Given the description of an element on the screen output the (x, y) to click on. 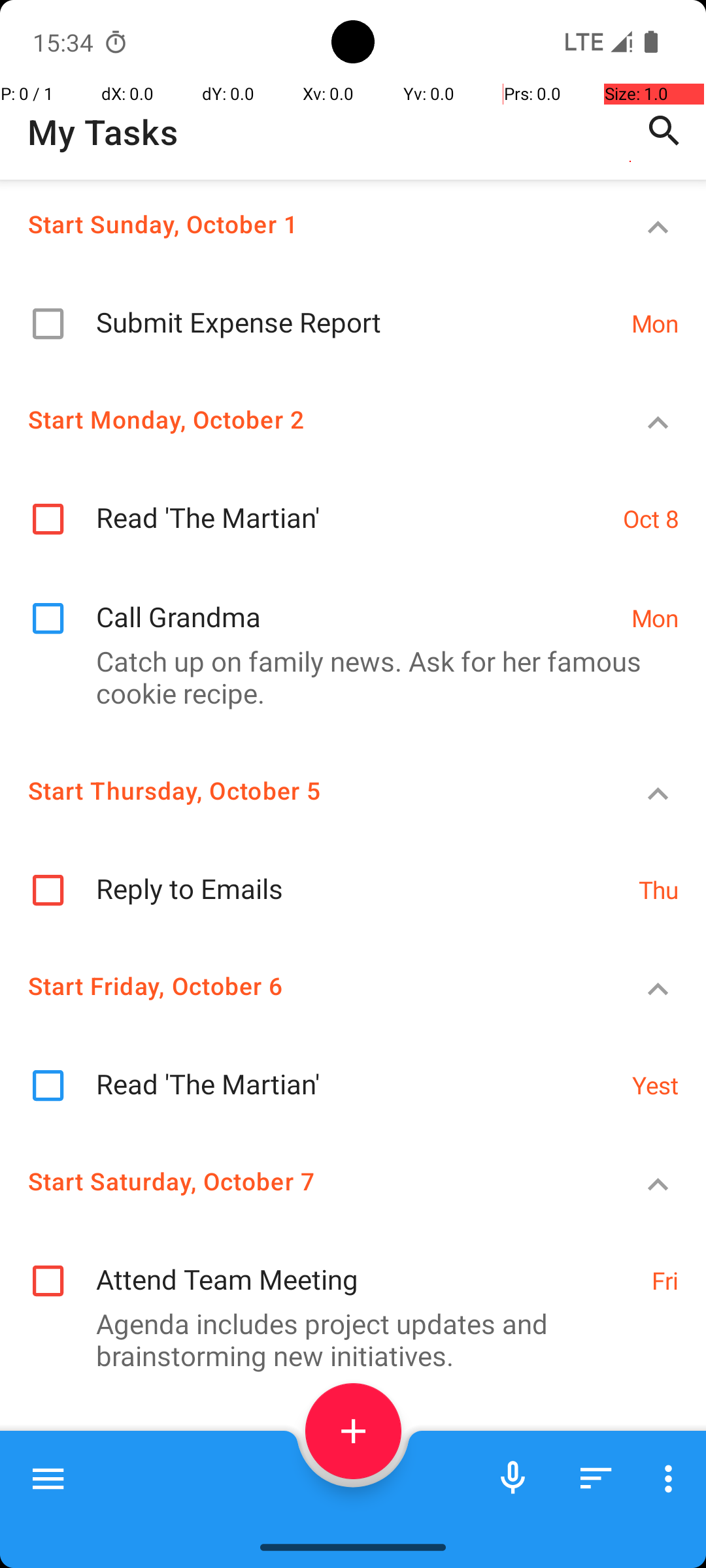
Start Sunday, October 1 Element type: android.widget.TextView (304, 223)
Start Monday, October 2 Element type: android.widget.TextView (304, 419)
Start Thursday, October 5 Element type: android.widget.TextView (304, 790)
Start Friday, October 6 Element type: android.widget.TextView (304, 985)
Start Saturday, October 7 Element type: android.widget.TextView (304, 1180)
Start Sunday, October 8 Element type: android.widget.TextView (304, 1452)
Catch up on family news. Ask for her famous cookie recipe. Element type: android.widget.TextView (346, 676)
Agenda includes project updates and brainstorming new initiatives. Element type: android.widget.TextView (346, 1338)
